Given the description of an element on the screen output the (x, y) to click on. 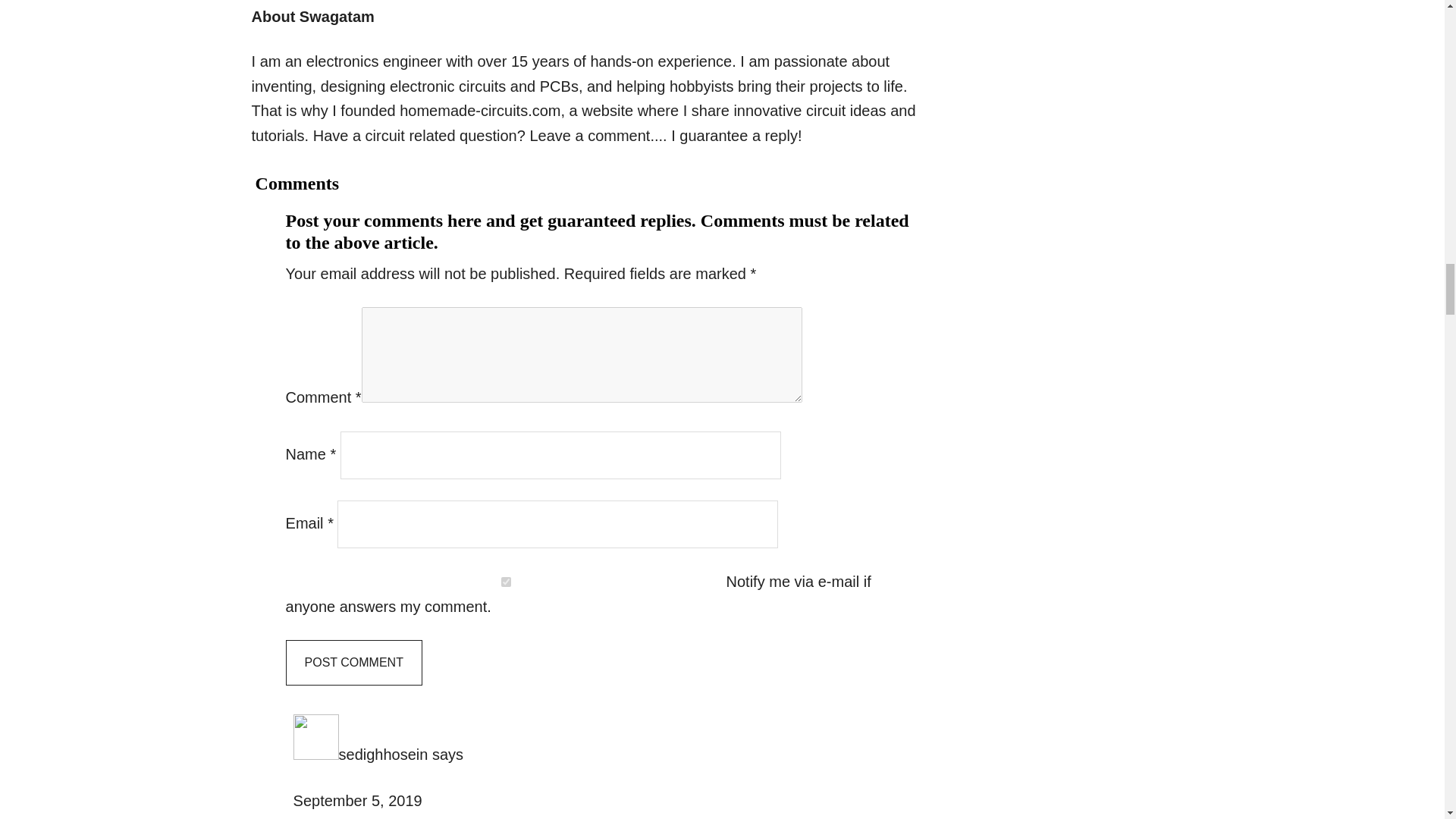
Post Comment (353, 662)
on (505, 582)
Post Comment (353, 662)
